Given the description of an element on the screen output the (x, y) to click on. 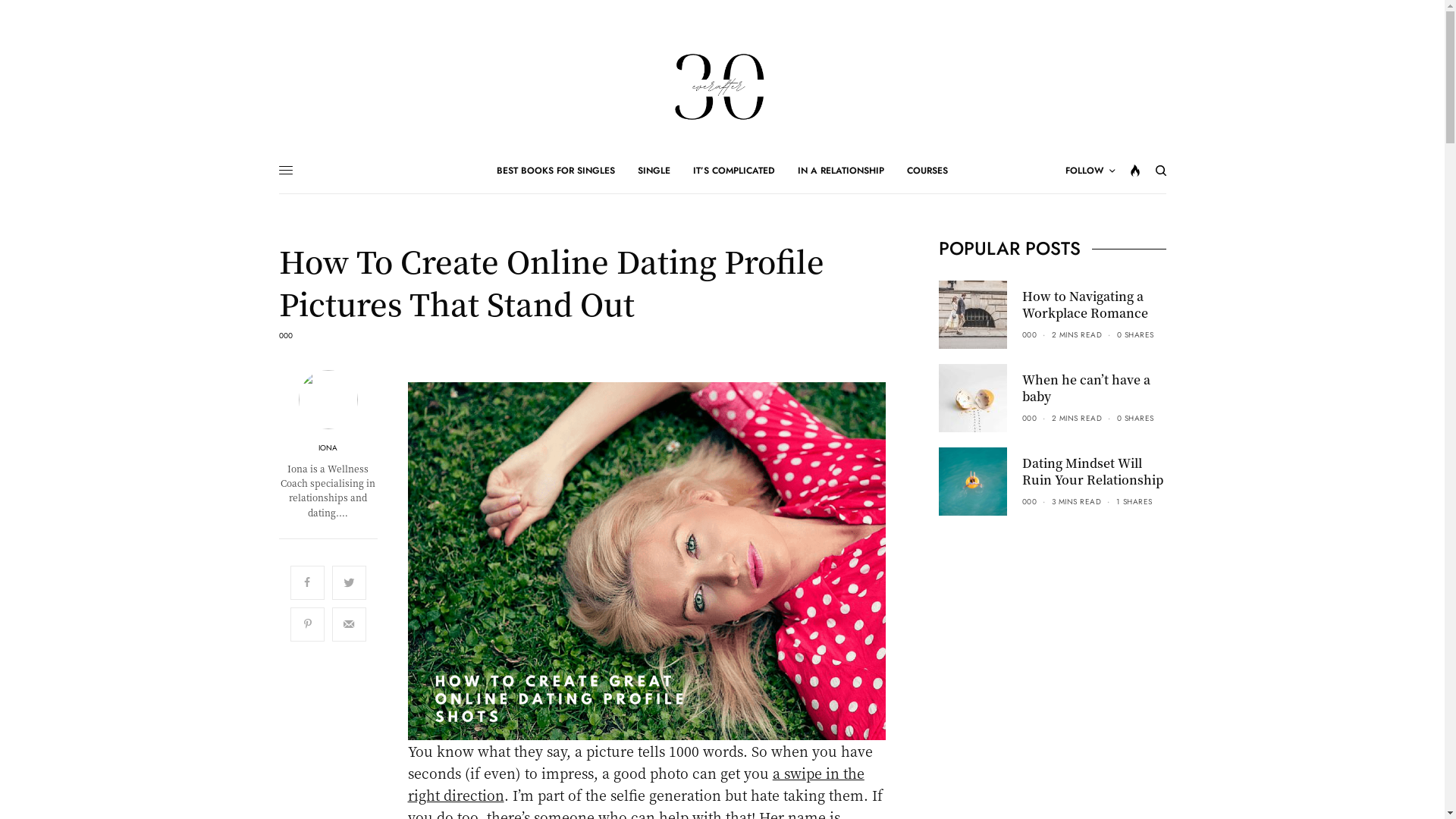
Dating Mindset Will Ruin Your Relationship Element type: text (1094, 472)
COURSES Element type: text (926, 170)
FOLLOW Element type: text (1088, 170)
IONA Element type: text (328, 447)
BEST BOOKS FOR SINGLES Element type: text (555, 170)
30EverAfter | Dating and Relationship Advice for Women Element type: hover (721, 83)
IN A RELATIONSHIP Element type: text (840, 170)
SINGLE Element type: text (653, 170)
a swipe in the right direction Element type: text (635, 783)
How to Navigating a Workplace Romance Element type: text (1094, 305)
